Given the description of an element on the screen output the (x, y) to click on. 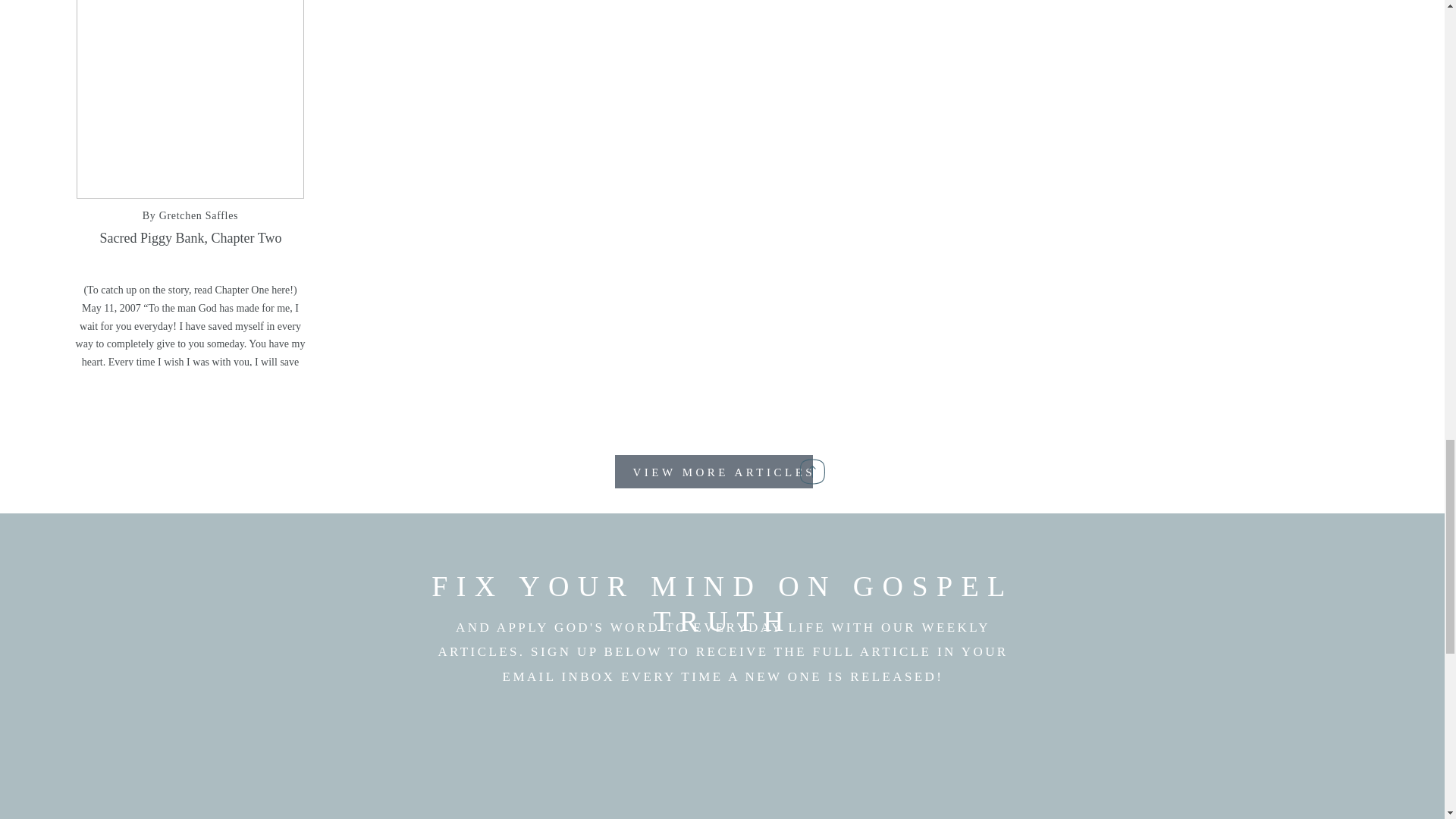
Sacred Piggy Bank, Chapter Two (190, 99)
VIEW MORE ARTICLES (723, 472)
Sacred Piggy Bank, Chapter Two (191, 237)
